Given the description of an element on the screen output the (x, y) to click on. 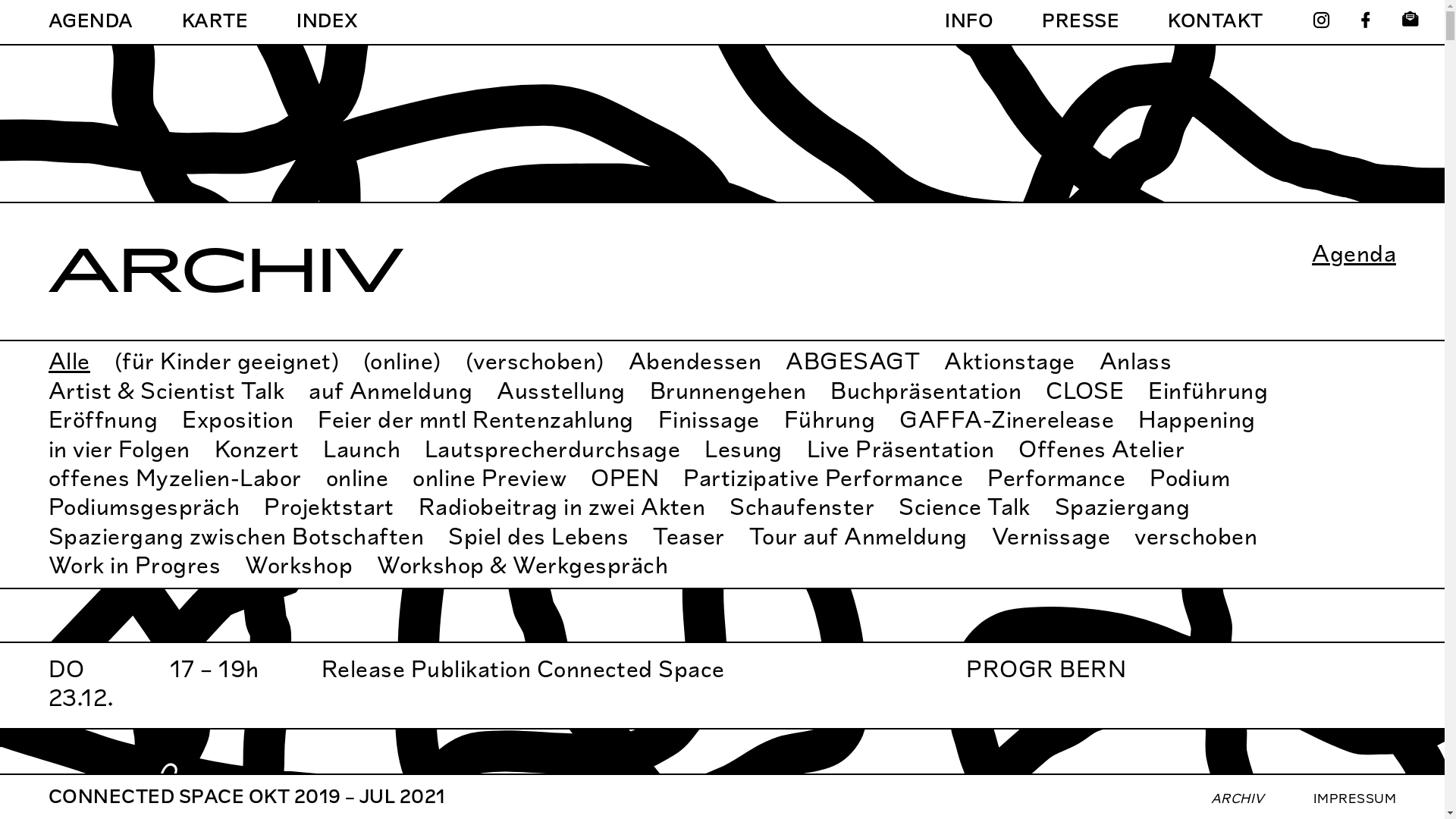
KONTAKT Element type: text (1215, 21)
Konzert Element type: text (256, 449)
online Element type: text (357, 477)
Spaziergang Element type: text (1121, 506)
Alle Element type: text (69, 361)
INFO Element type: text (969, 21)
Brunnengehen Element type: text (727, 390)
IMPRESSUM Element type: text (1354, 797)
Anlass Element type: text (1135, 361)
Podium Element type: text (1189, 477)
Finissage Element type: text (708, 419)
in vier Folgen Element type: text (119, 449)
offenes Myzelien-Labor Element type: text (174, 477)
(online) Element type: text (402, 361)
CLOSE Element type: text (1084, 390)
Artist & Scientist Talk Element type: text (166, 390)
verschoben Element type: text (1195, 536)
Projektstart Element type: text (328, 506)
Science Talk Element type: text (964, 506)
auf Anmeldung Element type: text (390, 390)
(verschoben) Element type: text (534, 361)
GAFFA-Zinerelease Element type: text (1006, 419)
Happening Element type: text (1196, 419)
Ausstellung Element type: text (560, 390)
Teaser Element type: text (688, 536)
online Preview Element type: text (489, 477)
Workshop Element type: text (298, 565)
Offenes Atelier Element type: text (1101, 449)
ABGESAGT Element type: text (852, 361)
Lautsprecherdurchsage Element type: text (552, 449)
Aktionstage Element type: text (1009, 361)
Abendessen Element type: text (695, 361)
Feier der mntl Rentenzahlung Element type: text (475, 419)
Agenda Element type: text (1353, 253)
Partizipative Performance Element type: text (823, 477)
INDEX Element type: text (327, 21)
Schaufenster Element type: text (801, 506)
Radiobeitrag in zwei Akten Element type: text (561, 506)
AGENDA Element type: text (90, 21)
Work in Progres Element type: text (134, 565)
Tour auf Anmeldung Element type: text (858, 536)
KARTE Element type: text (215, 21)
PRESSE Element type: text (1080, 21)
Vernissage Element type: text (1050, 536)
Launch Element type: text (361, 449)
Exposition Element type: text (237, 419)
Lesung Element type: text (743, 449)
OPEN Element type: text (624, 477)
ARCHIV Element type: text (1237, 797)
Spiel des Lebens Element type: text (538, 536)
Performance Element type: text (1056, 477)
Spaziergang zwischen Botschaften Element type: text (235, 536)
